Given the description of an element on the screen output the (x, y) to click on. 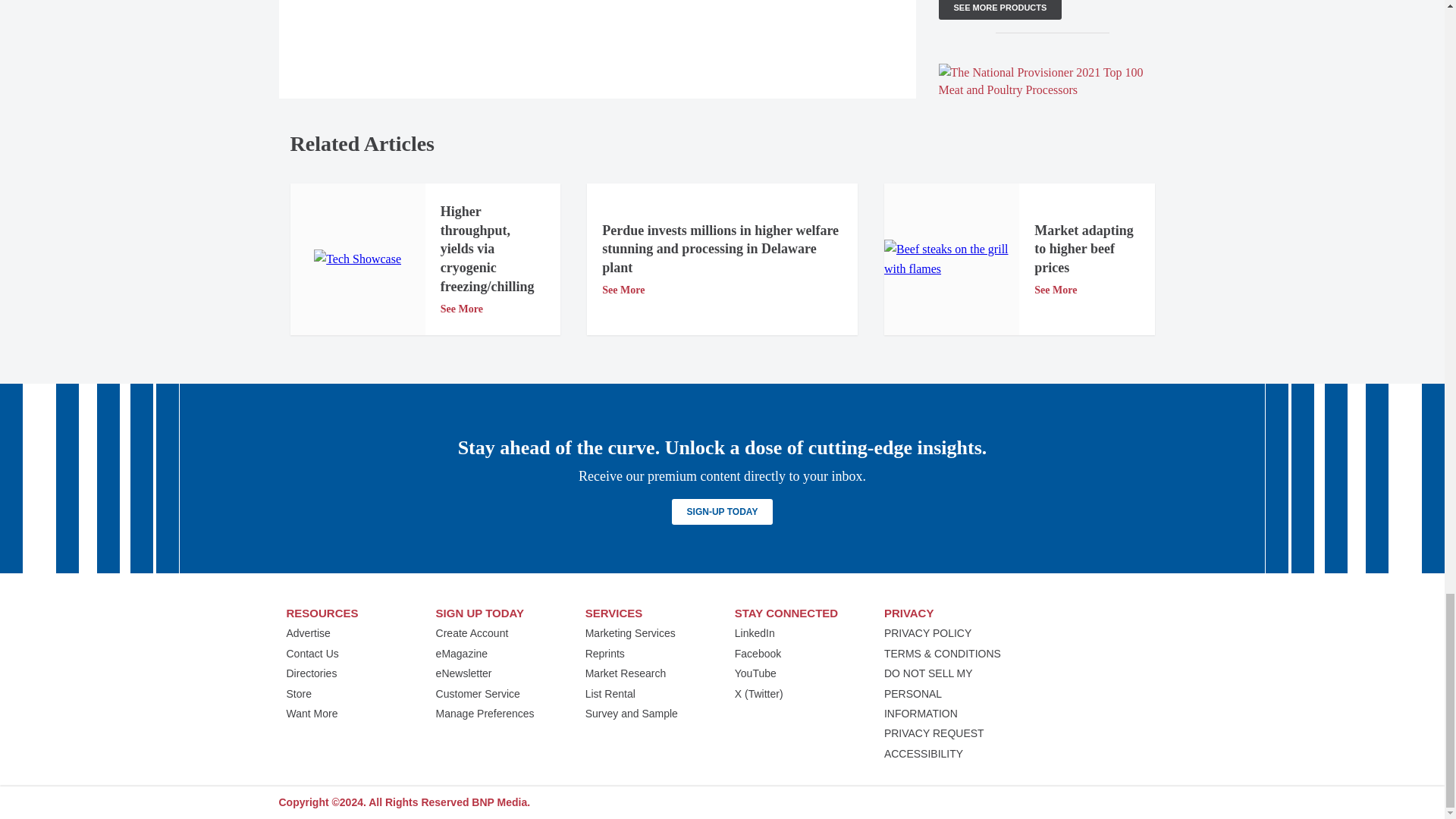
Tech Showcase (357, 259)
Beef steaks on the grill with flames (951, 259)
